Given the description of an element on the screen output the (x, y) to click on. 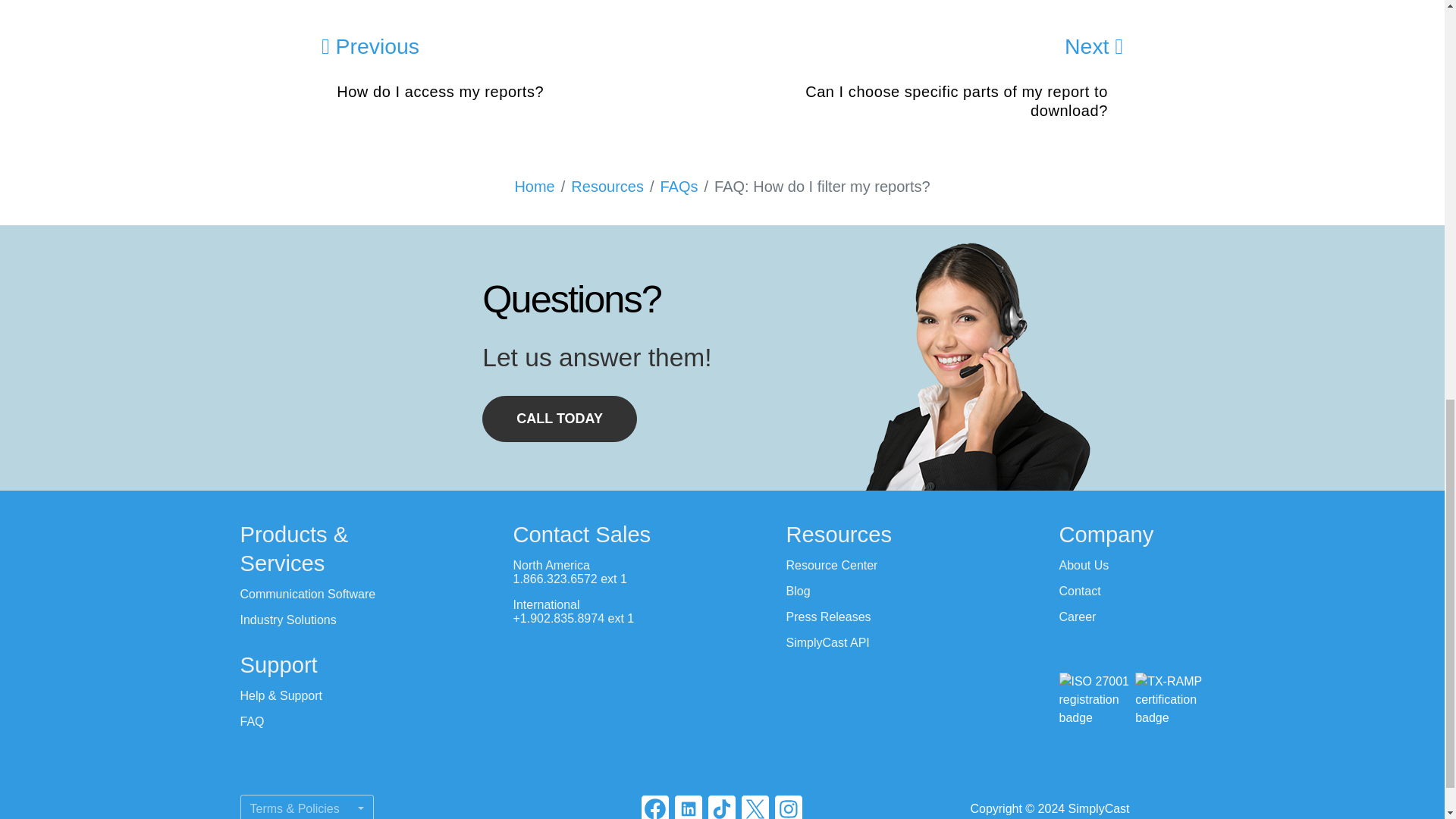
SimplyCast on Instagram (788, 807)
SimplyCast on Facebook (655, 807)
SimplyCast on LinkedIn (688, 807)
SimplyCast on Twitter (754, 807)
SimplyCast on TikTok (721, 807)
